Given the description of an element on the screen output the (x, y) to click on. 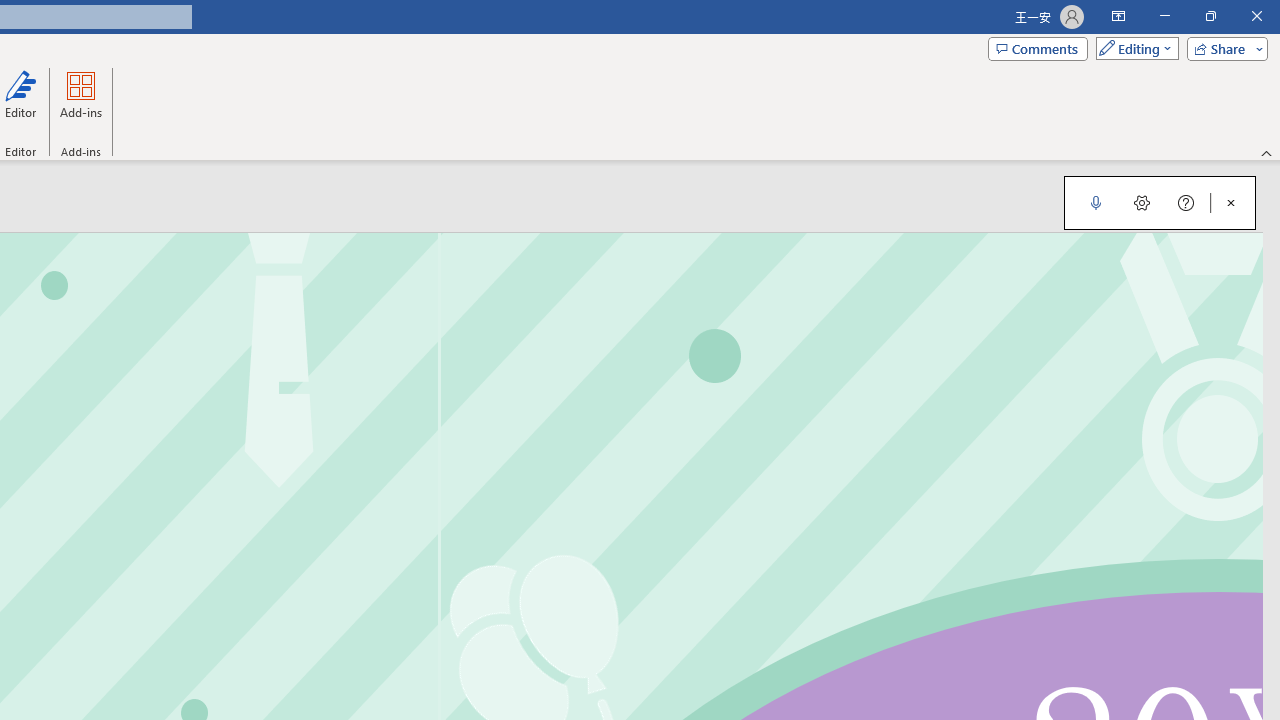
Dictation Settings (1142, 202)
Close Dictation (1231, 202)
